Given the description of an element on the screen output the (x, y) to click on. 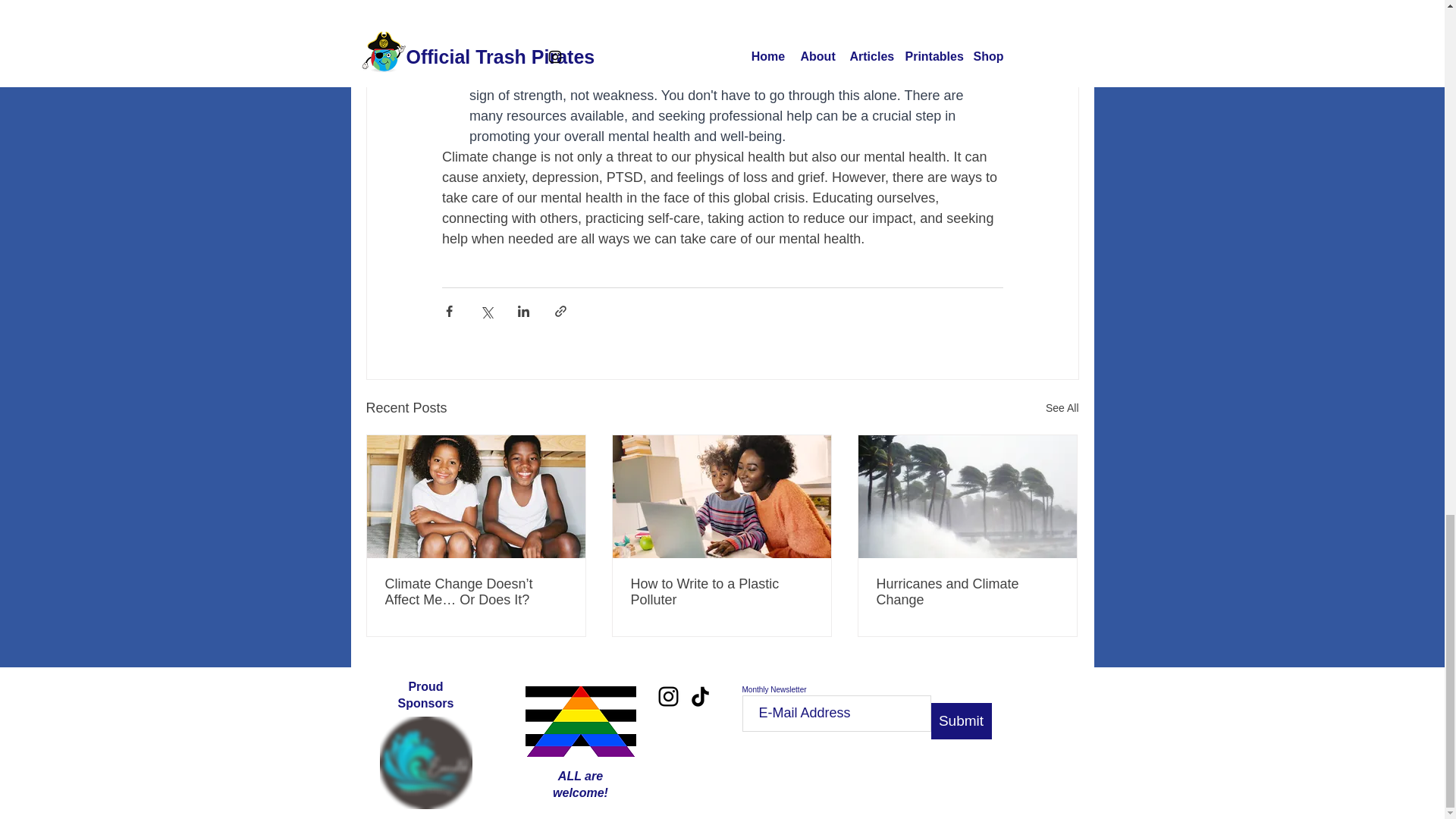
See All (1061, 408)
How to Write to a Plastic Polluter (721, 592)
Hurricanes and Climate Change (967, 592)
Submit (961, 720)
